Given the description of an element on the screen output the (x, y) to click on. 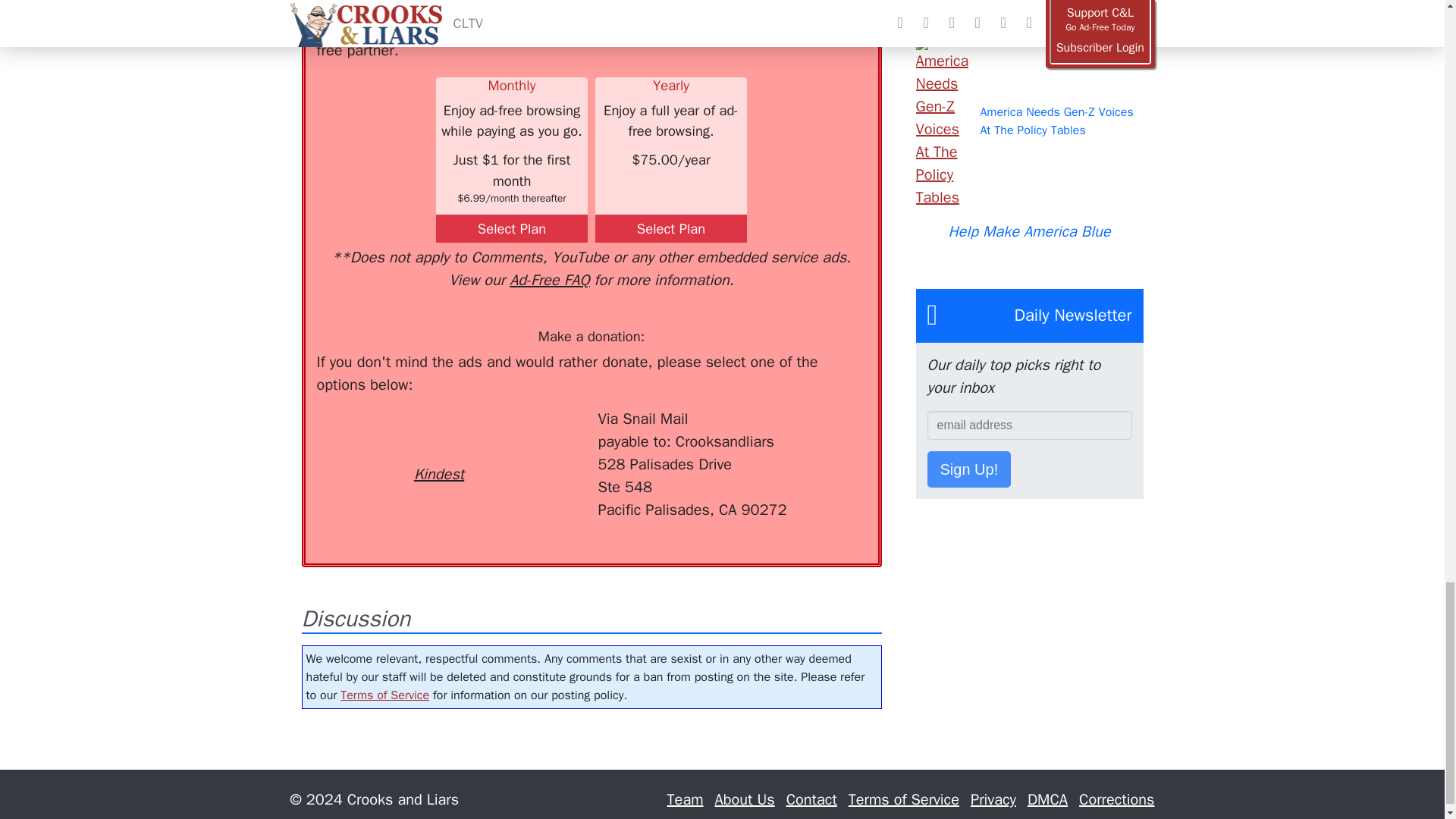
Donate via Kindest (438, 446)
Donate via PayPal (540, 435)
